Given the description of an element on the screen output the (x, y) to click on. 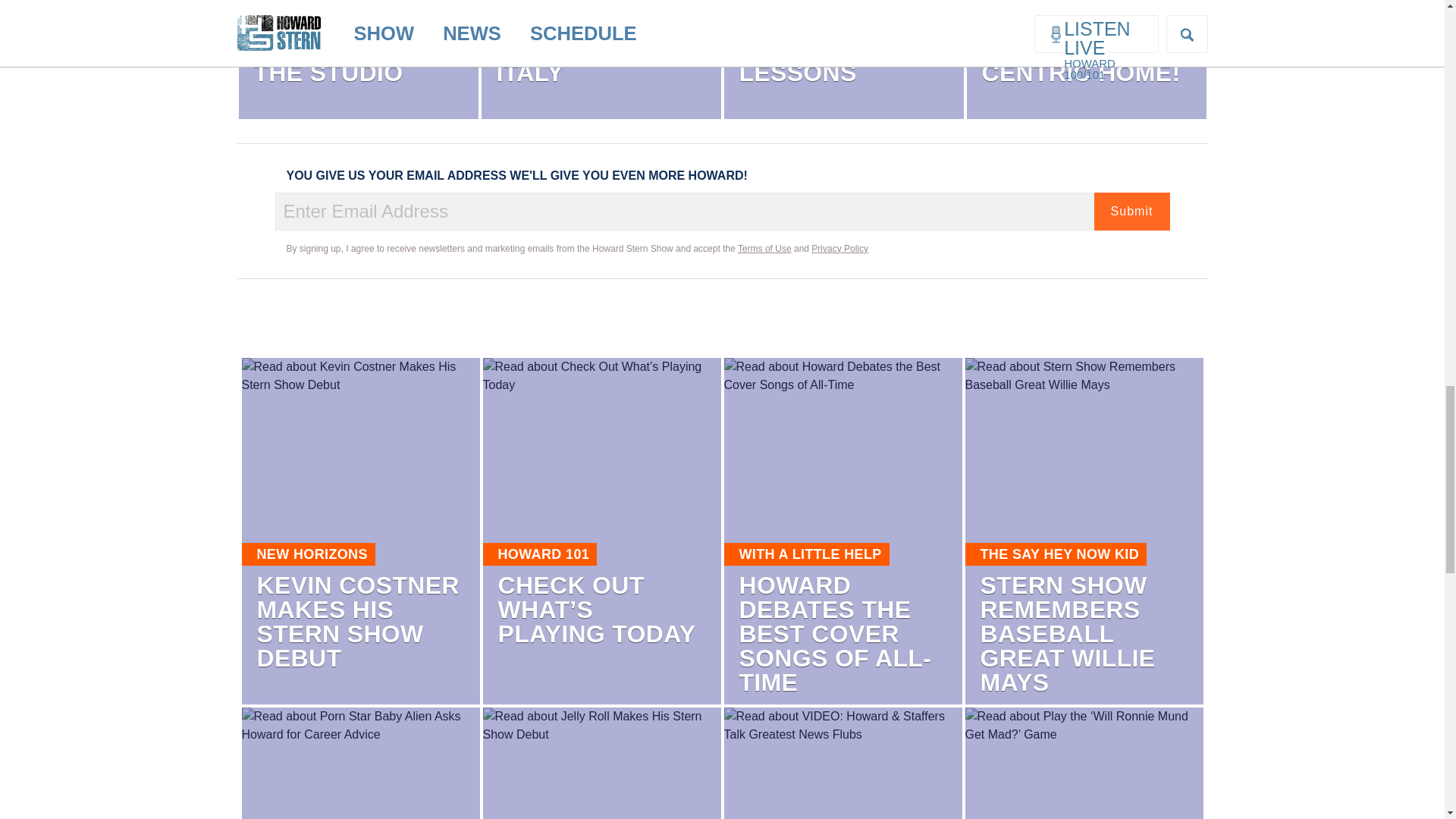
WATCH JD STRUGGLE WITH FRENCH LESSONS (841, 43)
KEVIN COSTNER MAKES HIS STERN SHOW DEBUT (357, 621)
HOWARD DEBATES THE BEST COVER SONGS OF ALL-TIME (834, 633)
Terms of Use (765, 248)
Submit (1131, 211)
STERN SHOW REMEMBERS BASEBALL GREAT WILLIE MAYS (1066, 633)
Privacy Policy (838, 248)
